Given the description of an element on the screen output the (x, y) to click on. 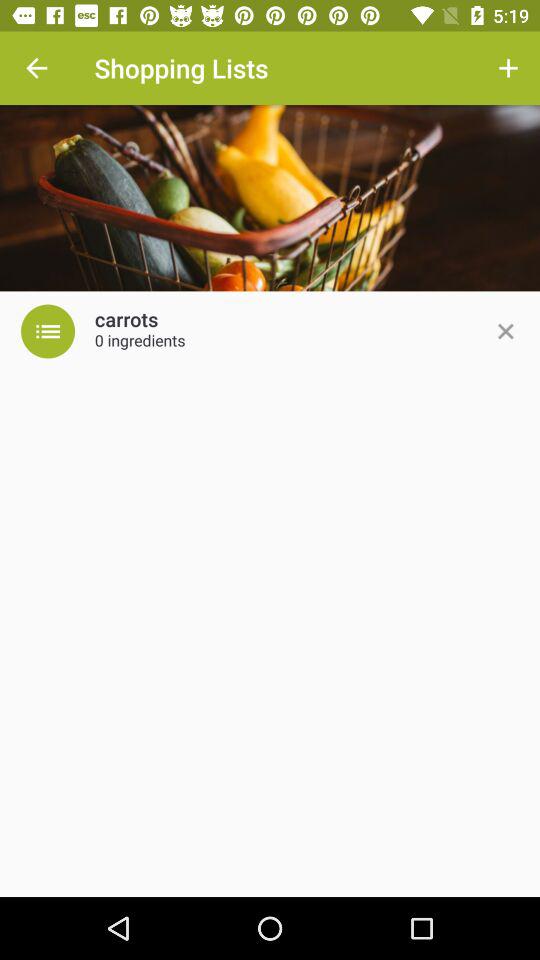
close the add (505, 331)
